Given the description of an element on the screen output the (x, y) to click on. 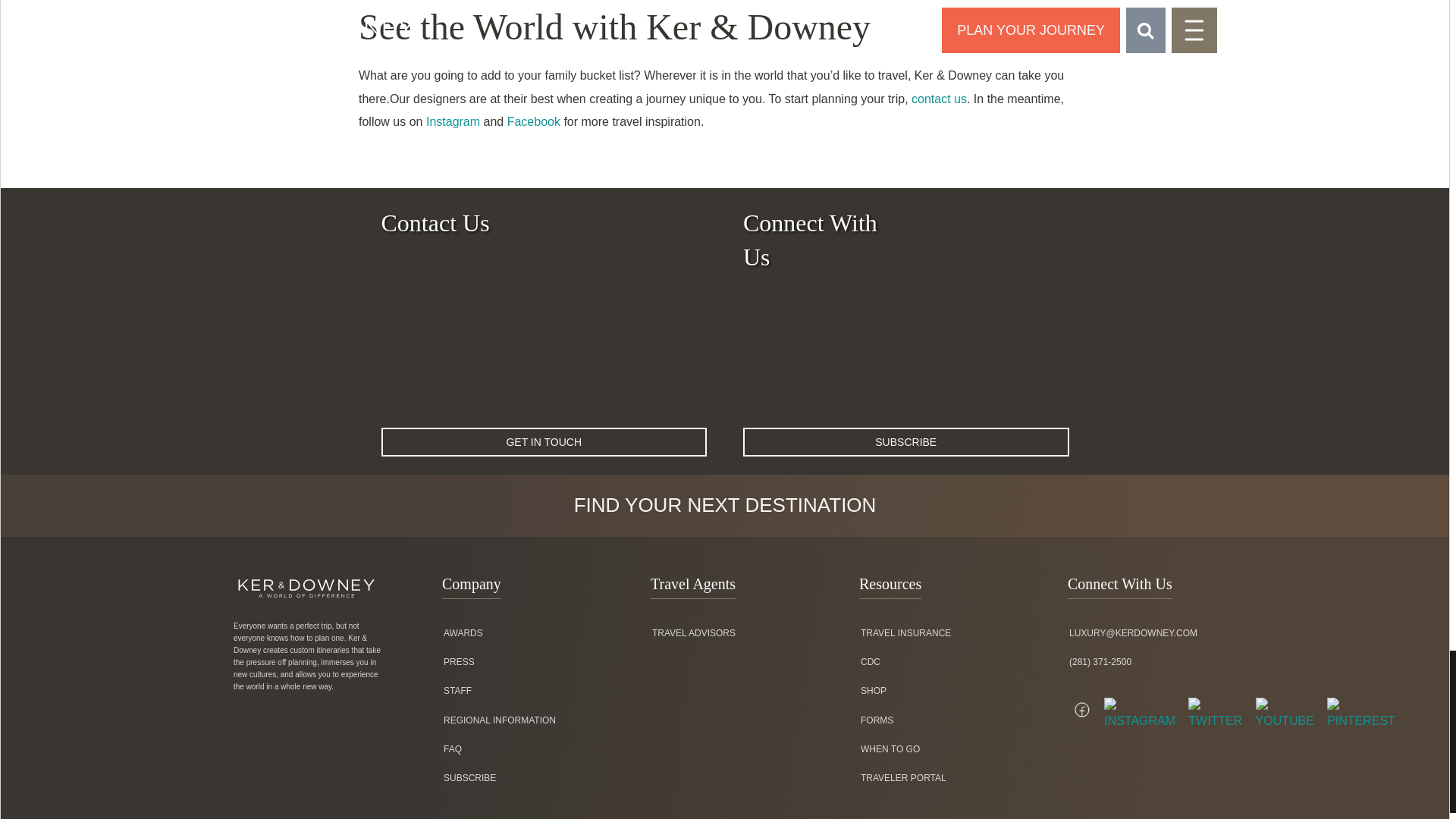
Contact (938, 98)
